Given the description of an element on the screen output the (x, y) to click on. 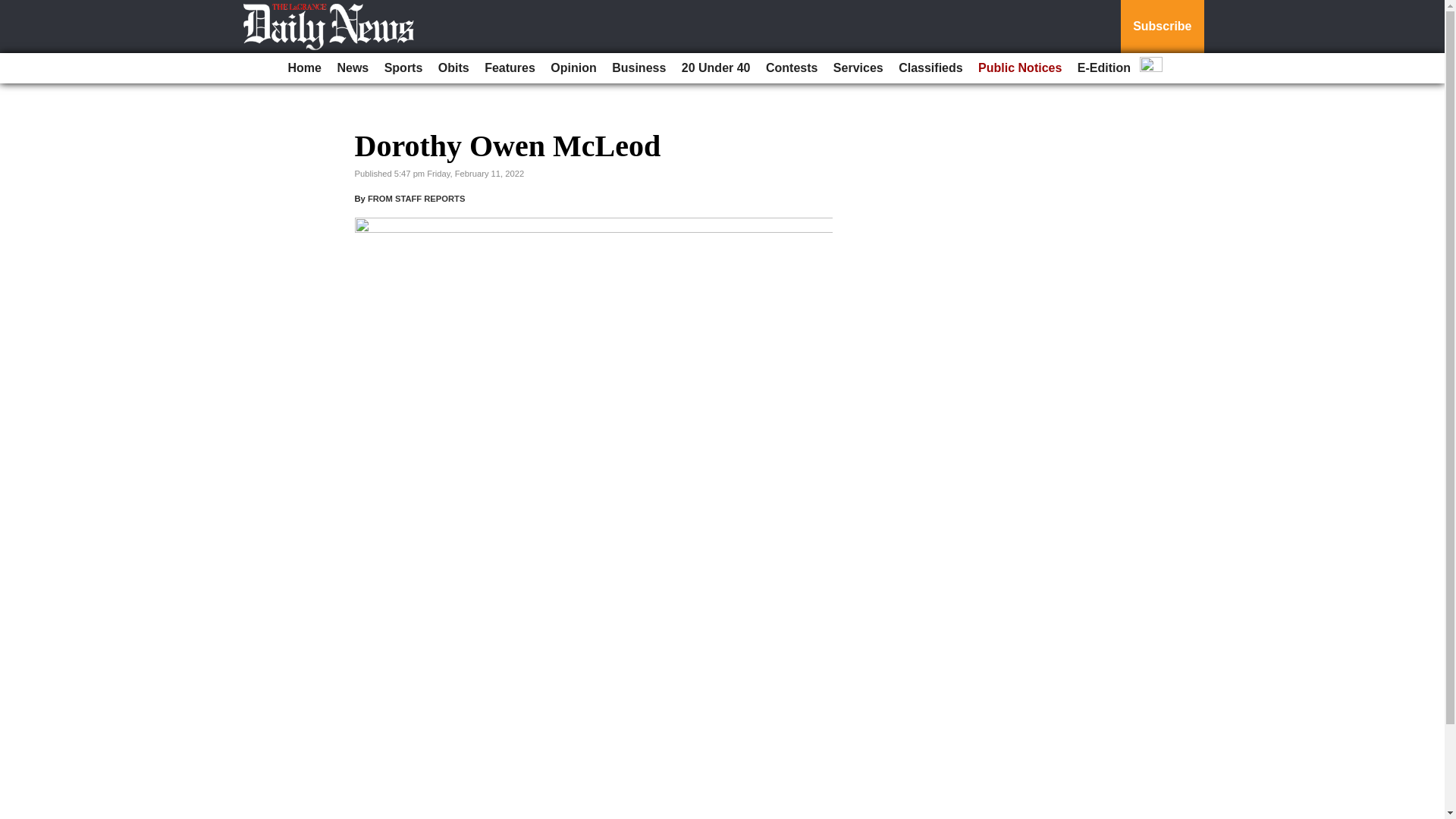
Home (304, 68)
Go (13, 9)
Public Notices (1019, 68)
E-Edition (1104, 68)
Contests (792, 68)
Business (638, 68)
Opinion (573, 68)
Features (510, 68)
FROM STAFF REPORTS (416, 198)
Services (858, 68)
